Given the description of an element on the screen output the (x, y) to click on. 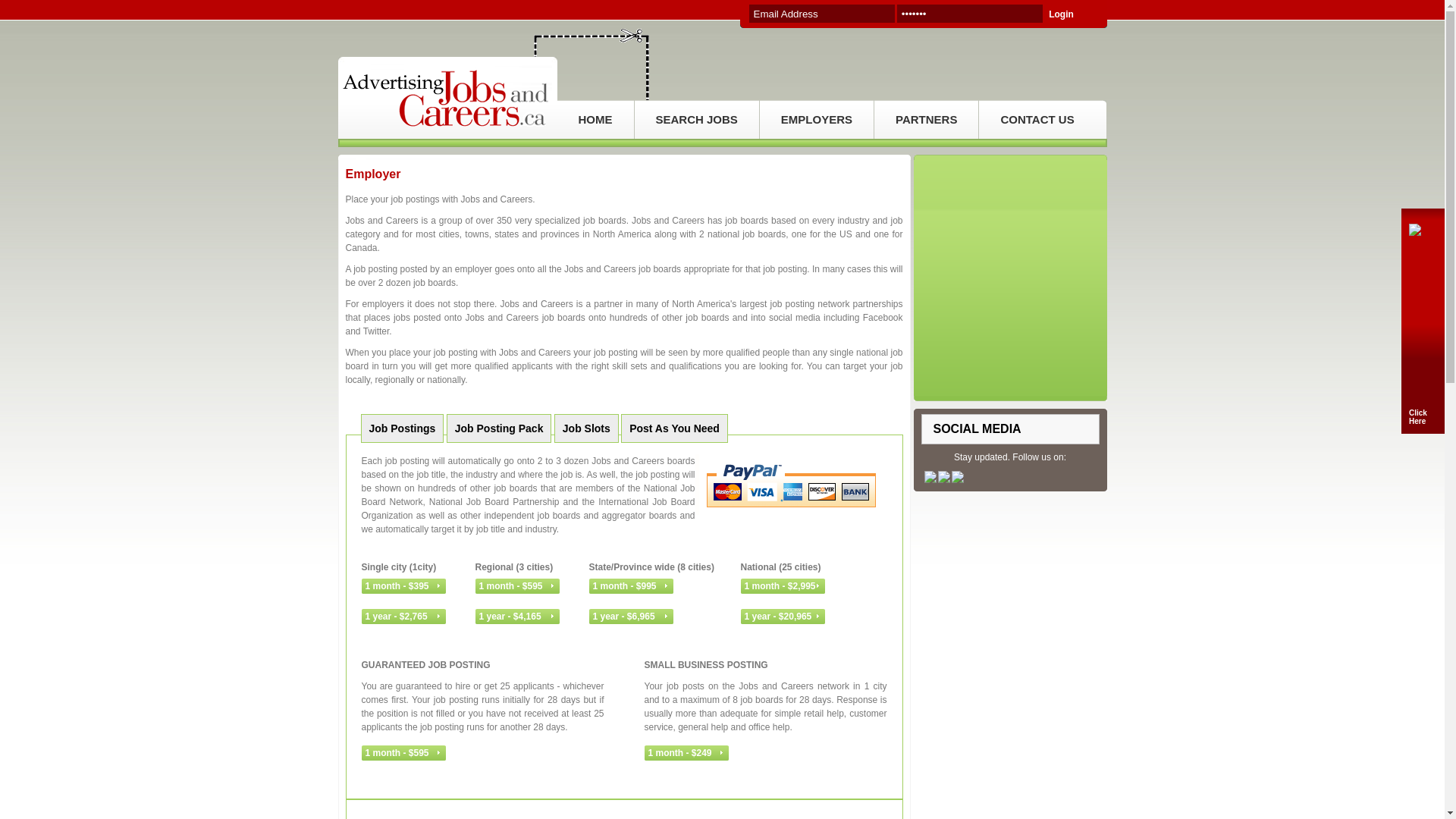
1 year - $6,965 Element type: text (630, 616)
1 year - $4,165 Element type: text (516, 616)
CONTACT US Element type: text (1037, 119)
Post As You Need Element type: text (674, 428)
1 month - $995 Element type: text (630, 585)
HOME Element type: text (594, 119)
Job Postings Element type: text (402, 428)
PARTNERS Element type: text (926, 119)
1 month - $595 Element type: text (516, 585)
Login Element type: text (1071, 14)
1 month - $595 Element type: text (402, 752)
EMPLOYERS Element type: text (816, 119)
Job Slots Element type: text (586, 428)
SEARCH JOBS Element type: text (695, 119)
1 month - $395 Element type: text (402, 585)
Job Posting Pack Element type: text (499, 428)
1 month - $2,995 Element type: text (782, 585)
1 year - $2,765 Element type: text (402, 616)
1 month - $249 Element type: text (686, 752)
1 year - $20,965 Element type: text (782, 616)
